Given the description of an element on the screen output the (x, y) to click on. 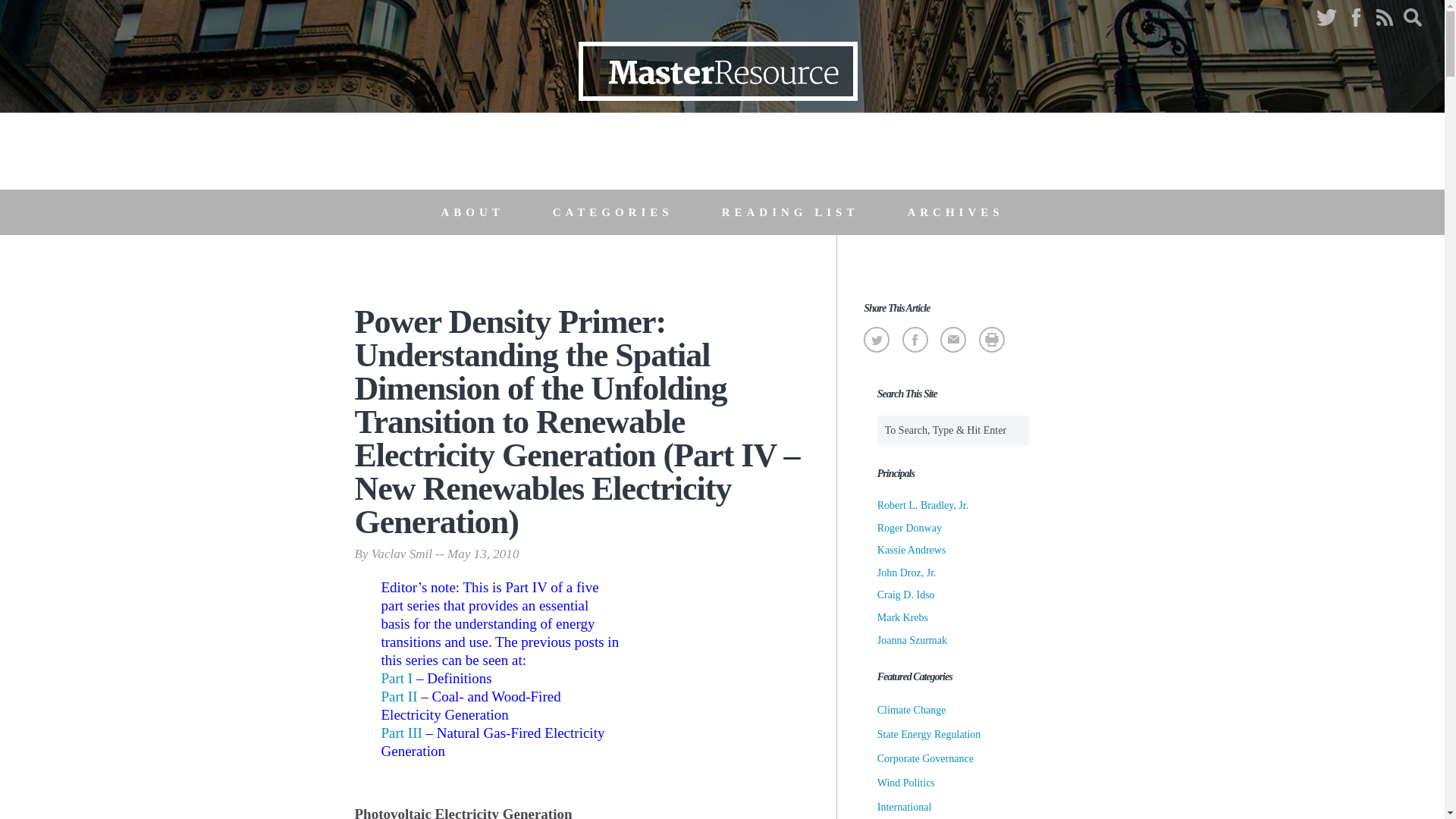
Part III (401, 732)
Part I (396, 678)
READING LIST (790, 212)
Part II (398, 696)
ABOUT (471, 212)
ARCHIVES (954, 212)
CATEGORIES (612, 212)
